Given the description of an element on the screen output the (x, y) to click on. 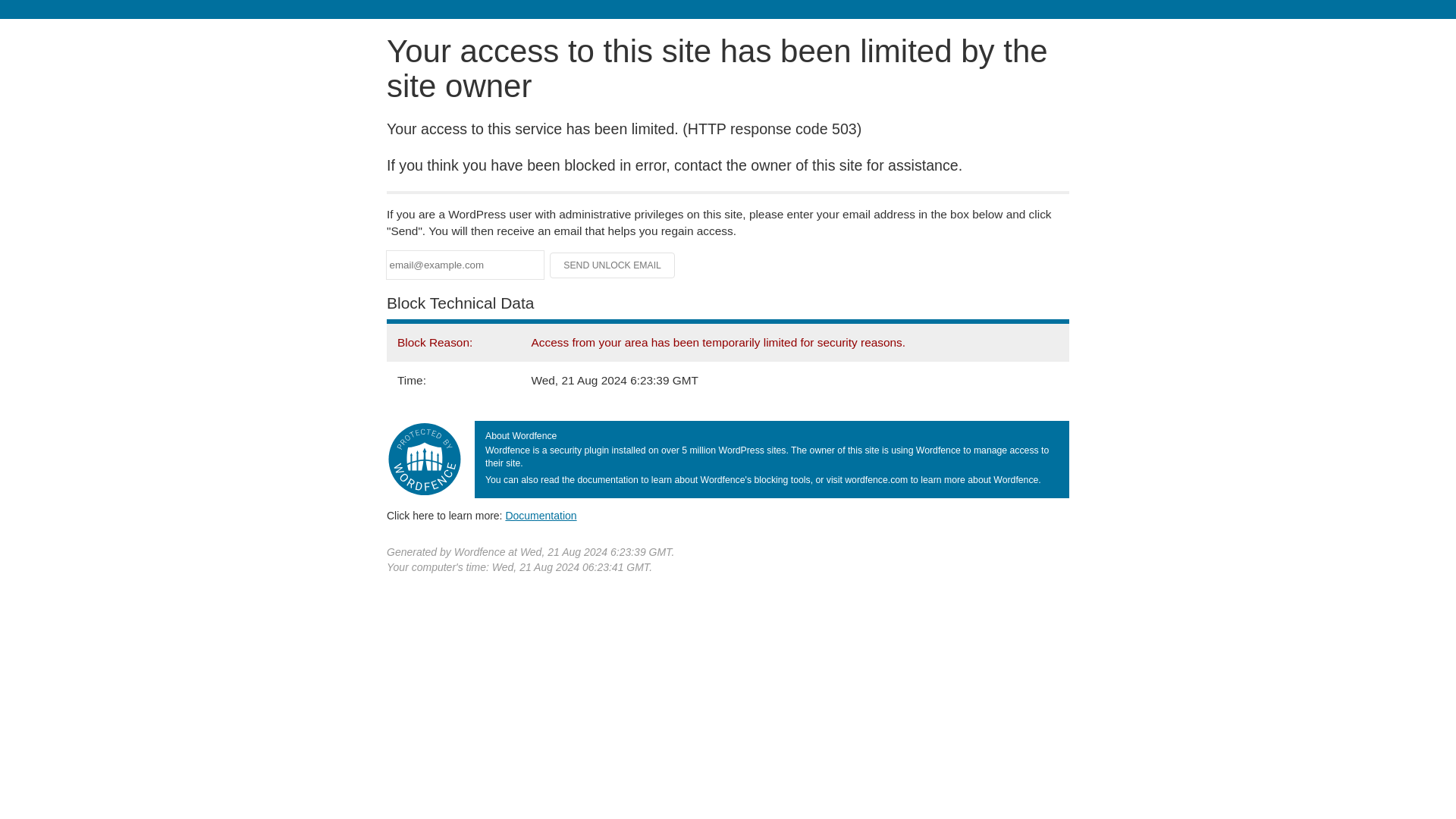
Documentation (540, 515)
Send Unlock Email (612, 265)
Send Unlock Email (612, 265)
